Given the description of an element on the screen output the (x, y) to click on. 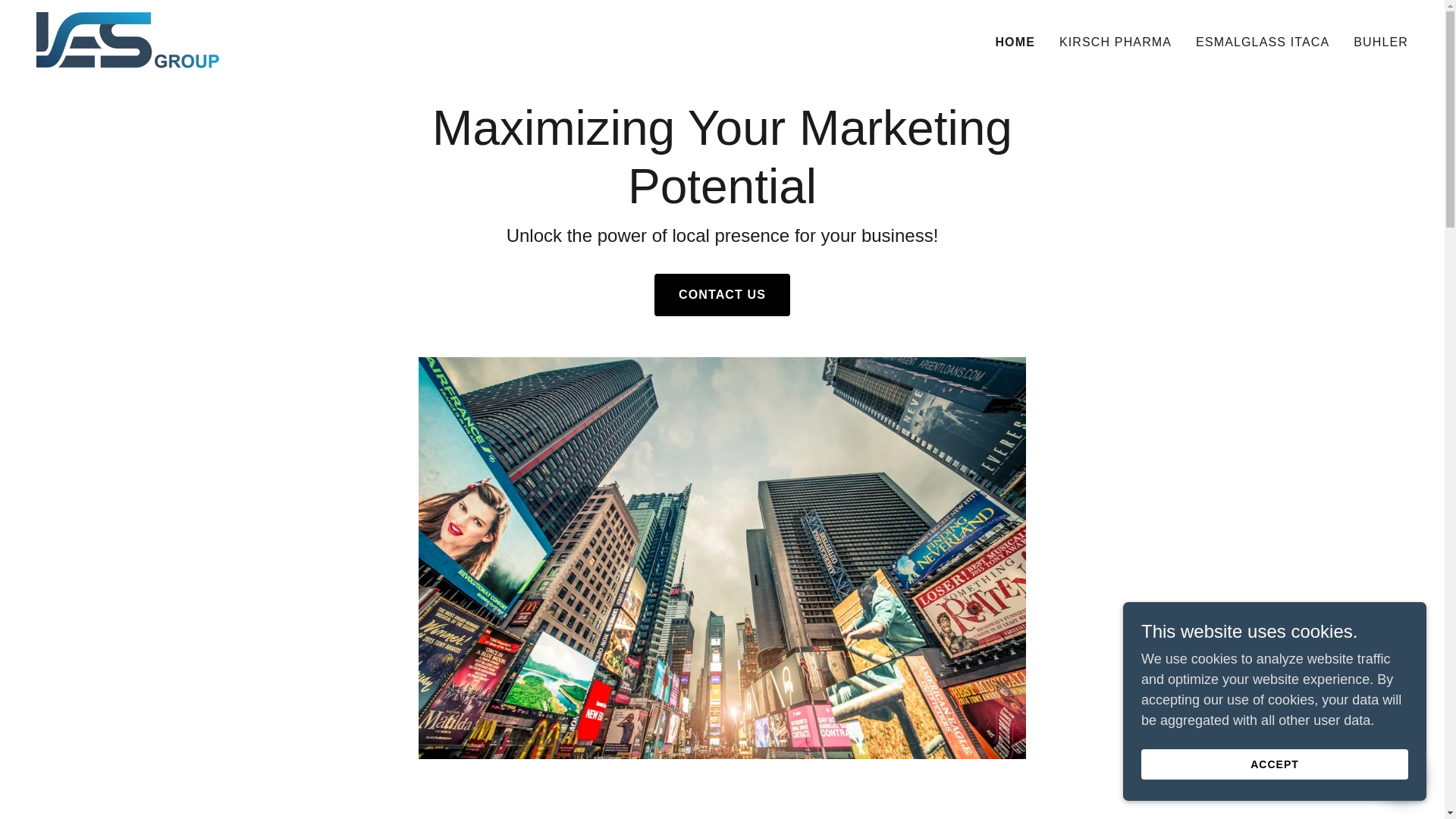
CONTACT US (721, 294)
HOME (1014, 42)
ACCEPT (1274, 764)
BUHLER (1380, 42)
IES Group (127, 38)
ESMALGLASS ITACA (1262, 42)
KIRSCH PHARMA (1115, 42)
